Given the description of an element on the screen output the (x, y) to click on. 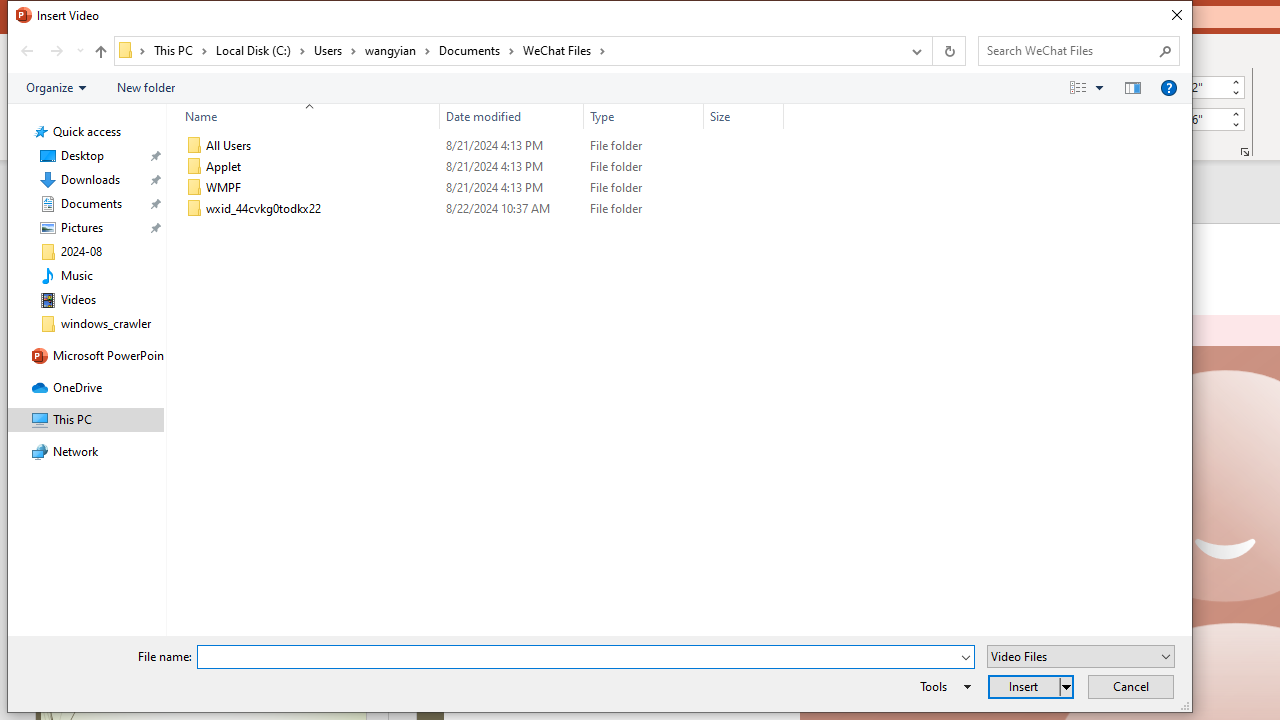
Views (1090, 87)
Command Module (599, 87)
Forward (Alt + Right Arrow) (56, 51)
Size (743, 115)
Name (303, 115)
Tools (942, 686)
Organize (56, 87)
Address: C:\Users\wangyian\Documents\WeChat Files (506, 51)
Less (1235, 124)
